Given the description of an element on the screen output the (x, y) to click on. 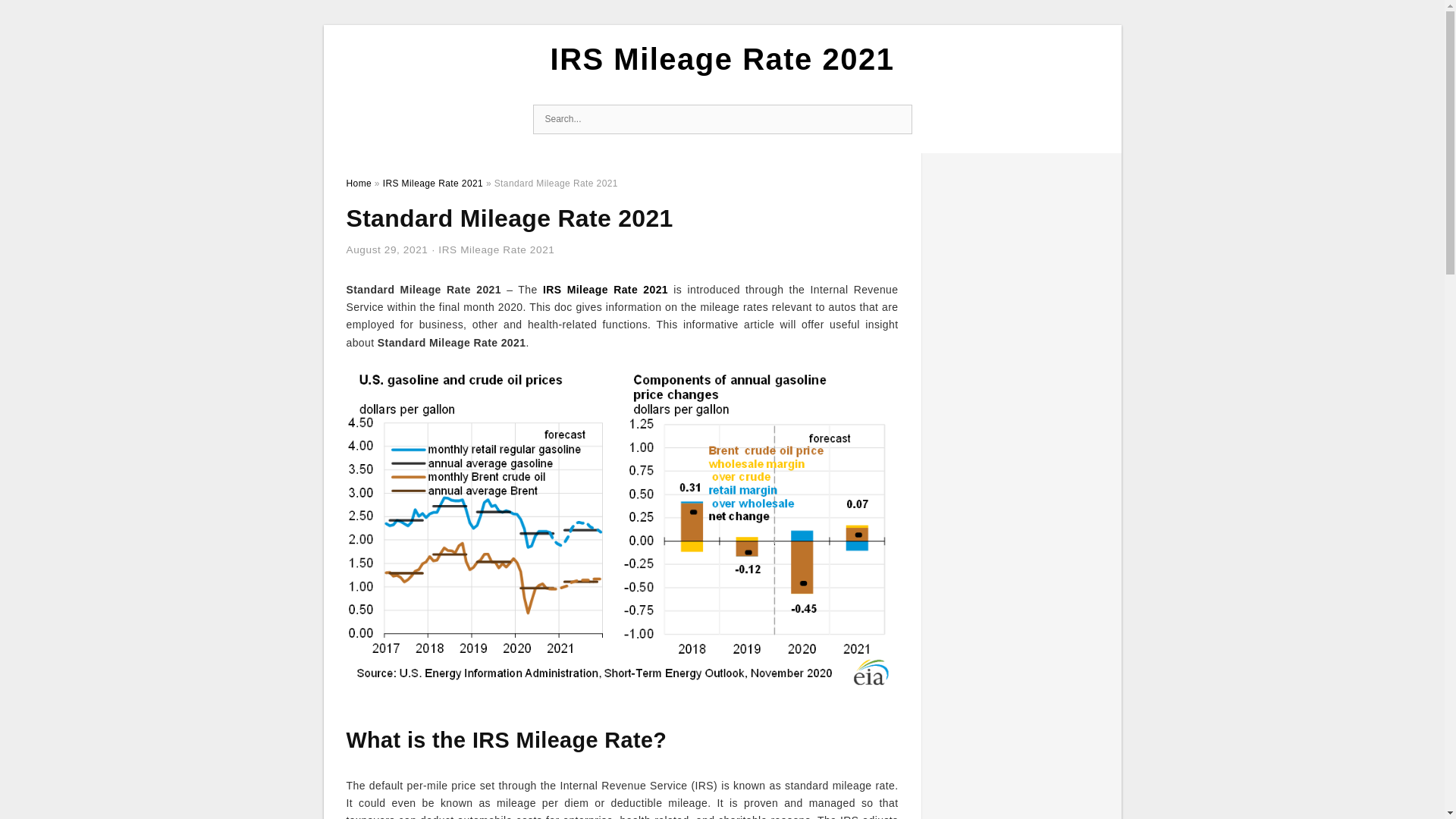
Search for: (721, 119)
Search (895, 119)
IRS Mileage Rate 2021 (722, 59)
IRS Mileage Rate 2021 (496, 249)
Search (895, 119)
IRS Mileage Rate 2021 (432, 183)
Search (895, 119)
Home (358, 183)
IRS Mileage Rate 2021 (605, 289)
